Given the description of an element on the screen output the (x, y) to click on. 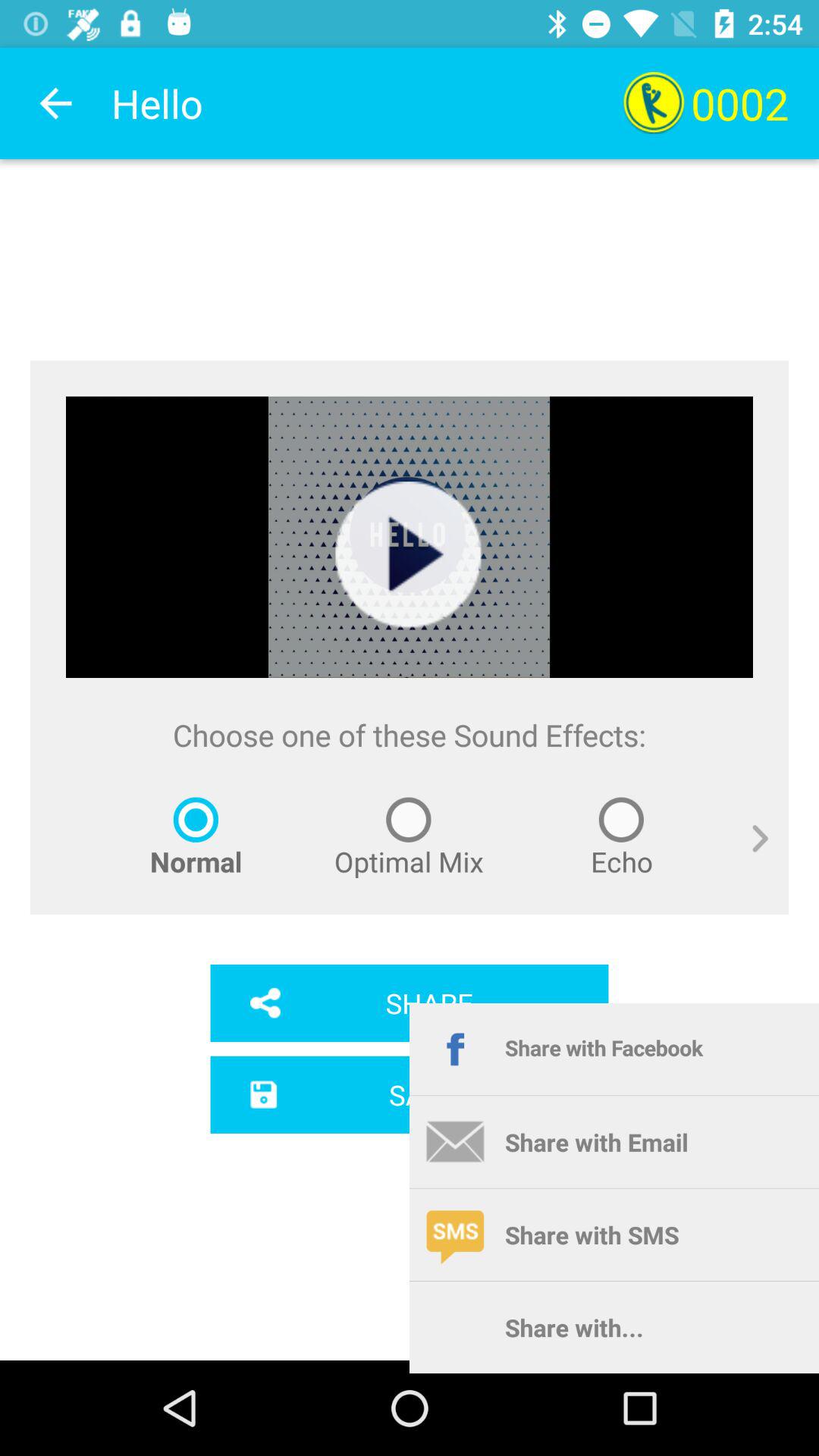
select item above the choose one of icon (408, 555)
